Given the description of an element on the screen output the (x, y) to click on. 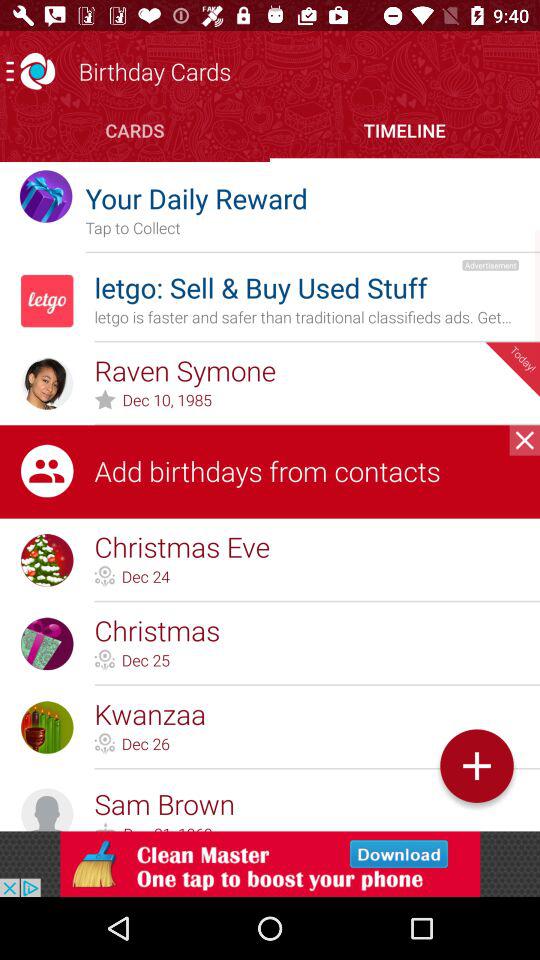
download apps (270, 864)
